Given the description of an element on the screen output the (x, y) to click on. 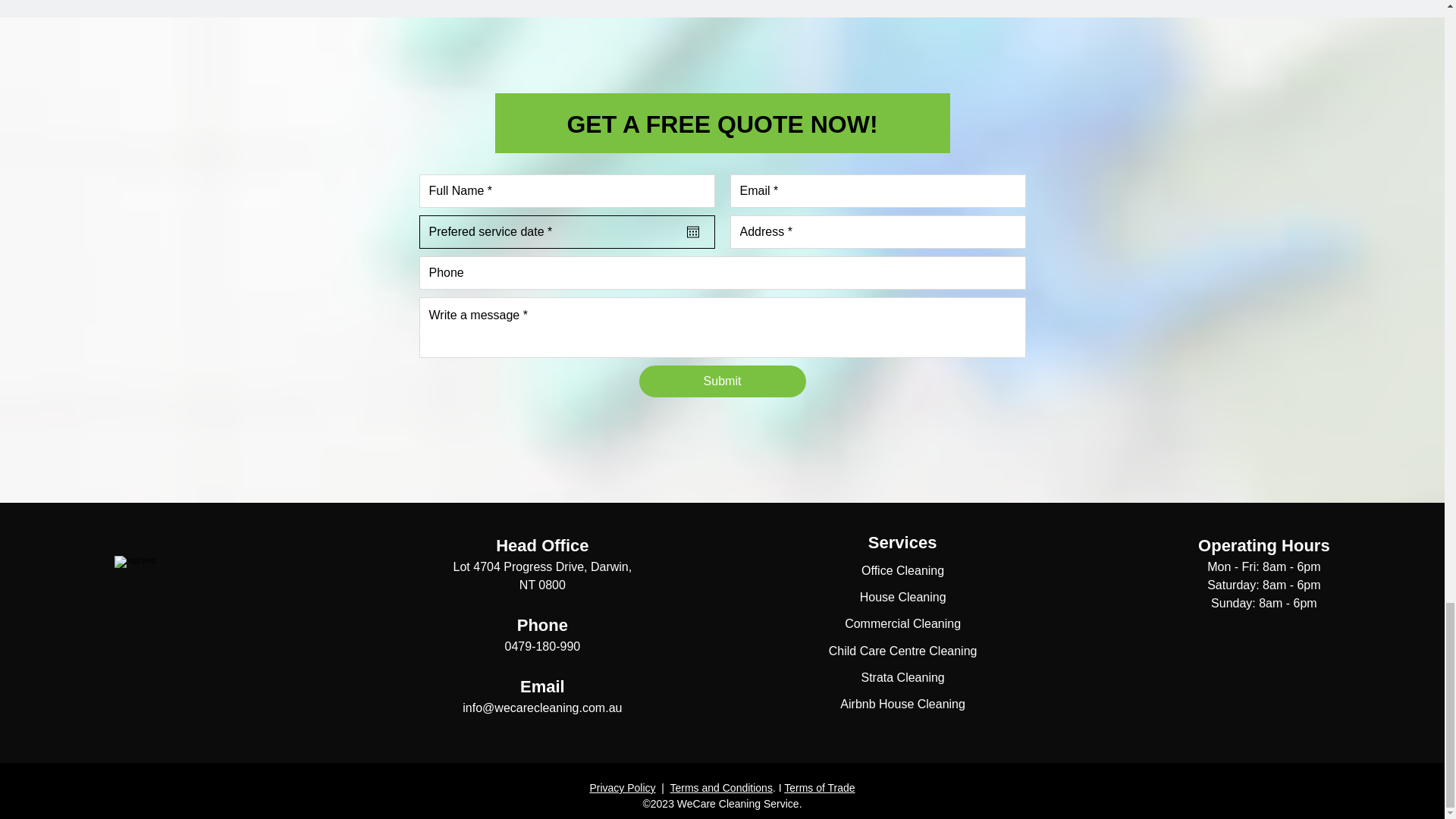
Airbnb House Cleaning (902, 703)
Office Cleaning (902, 570)
Strata Cleaning (901, 676)
Terms and Conditions (721, 787)
Commercial Cleaning (902, 623)
Terms of Trade (819, 787)
House Cleaning (903, 596)
Privacy Policy (622, 787)
0479-180-990 (542, 645)
Child Care Centre Cleaning (902, 650)
